Given the description of an element on the screen output the (x, y) to click on. 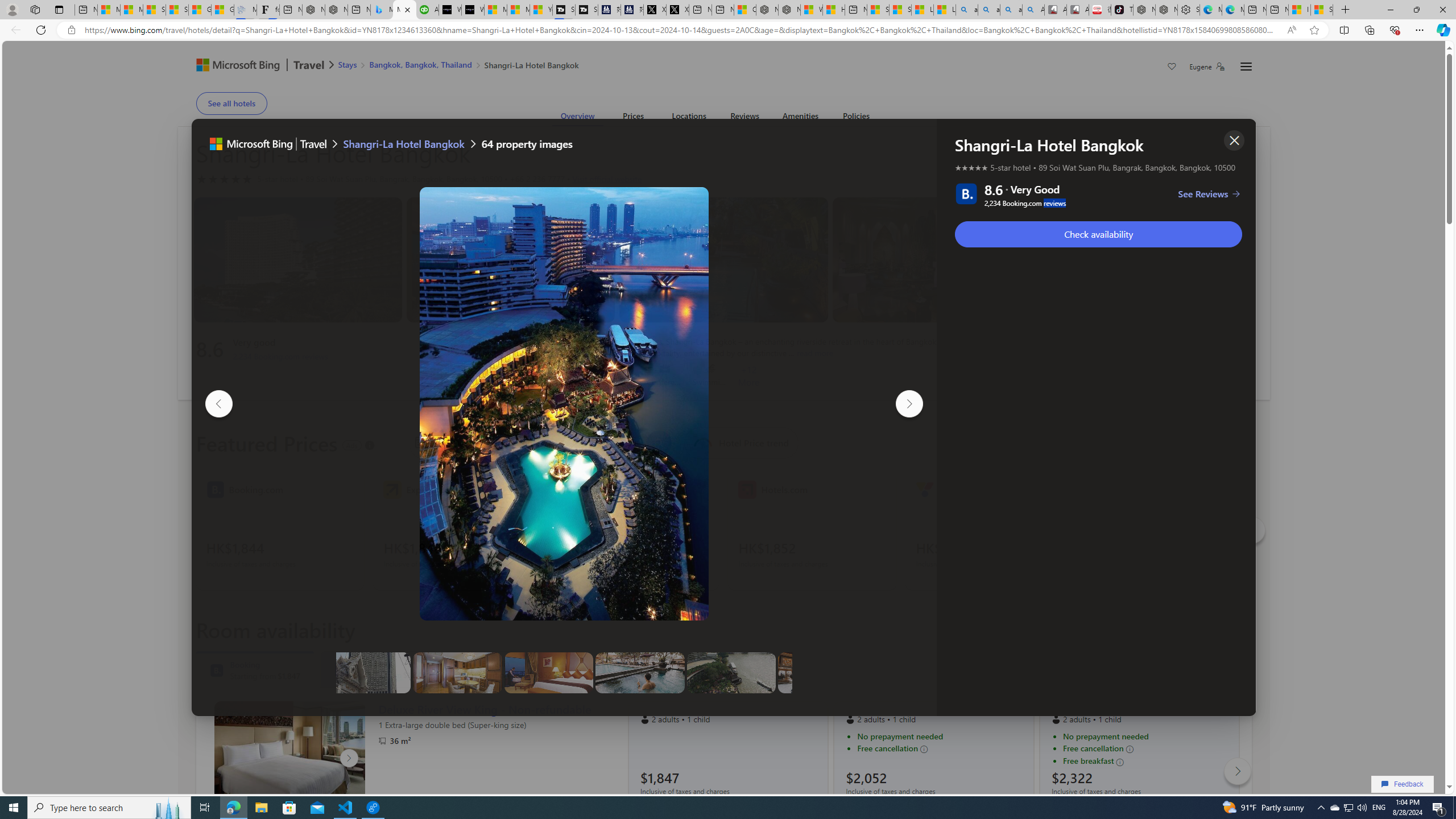
I Gained 20 Pounds of Muscle in 30 Days! | Watch (1300, 9)
Streaming Coverage | T3 (563, 9)
Nordace Siena Pro 15 Backpack (1166, 9)
